Given the description of an element on the screen output the (x, y) to click on. 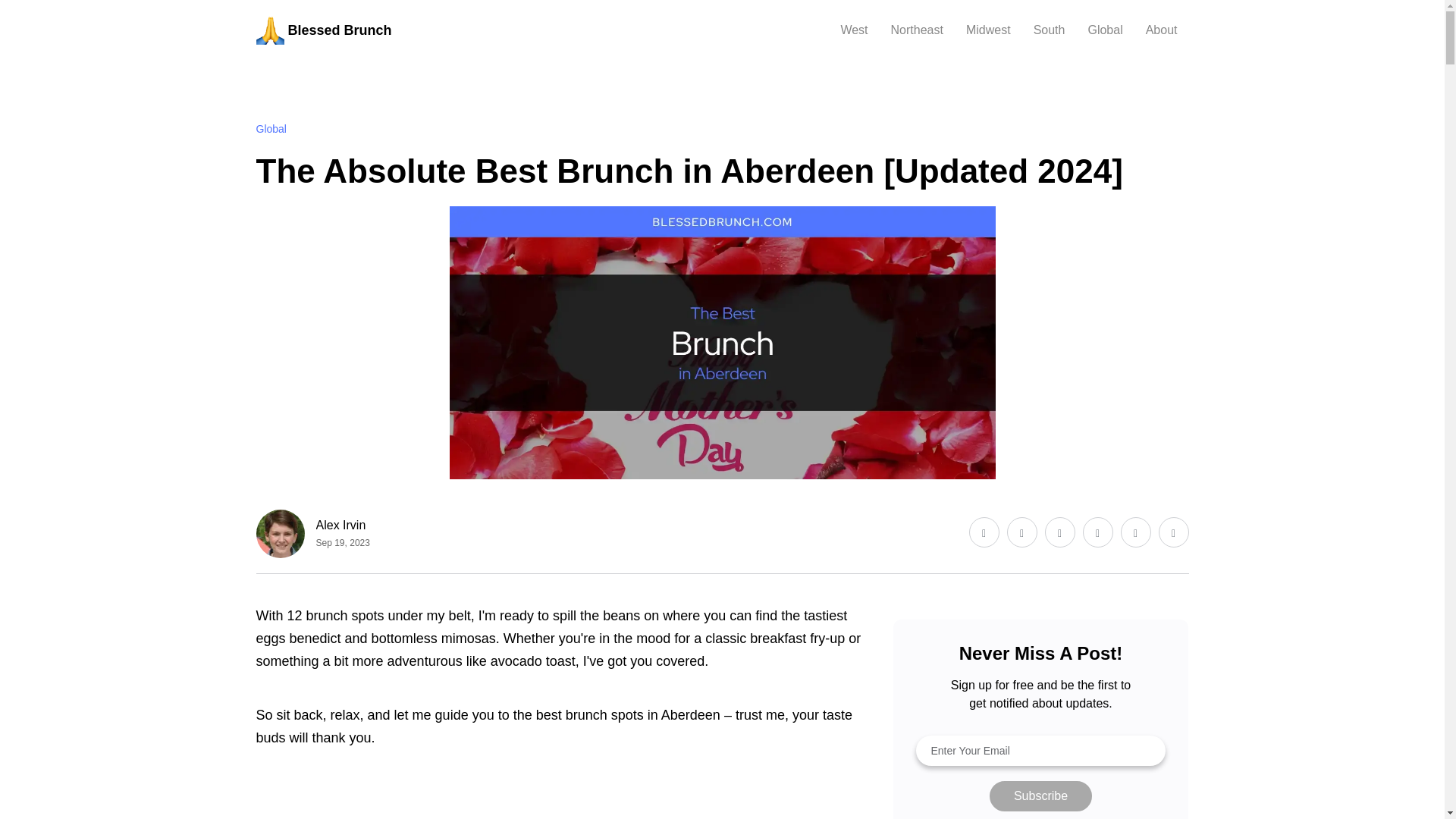
Alex Irvin (342, 525)
best brunch in aberdeen (563, 810)
Global (271, 128)
Blessed Brunch (323, 30)
